Given the description of an element on the screen output the (x, y) to click on. 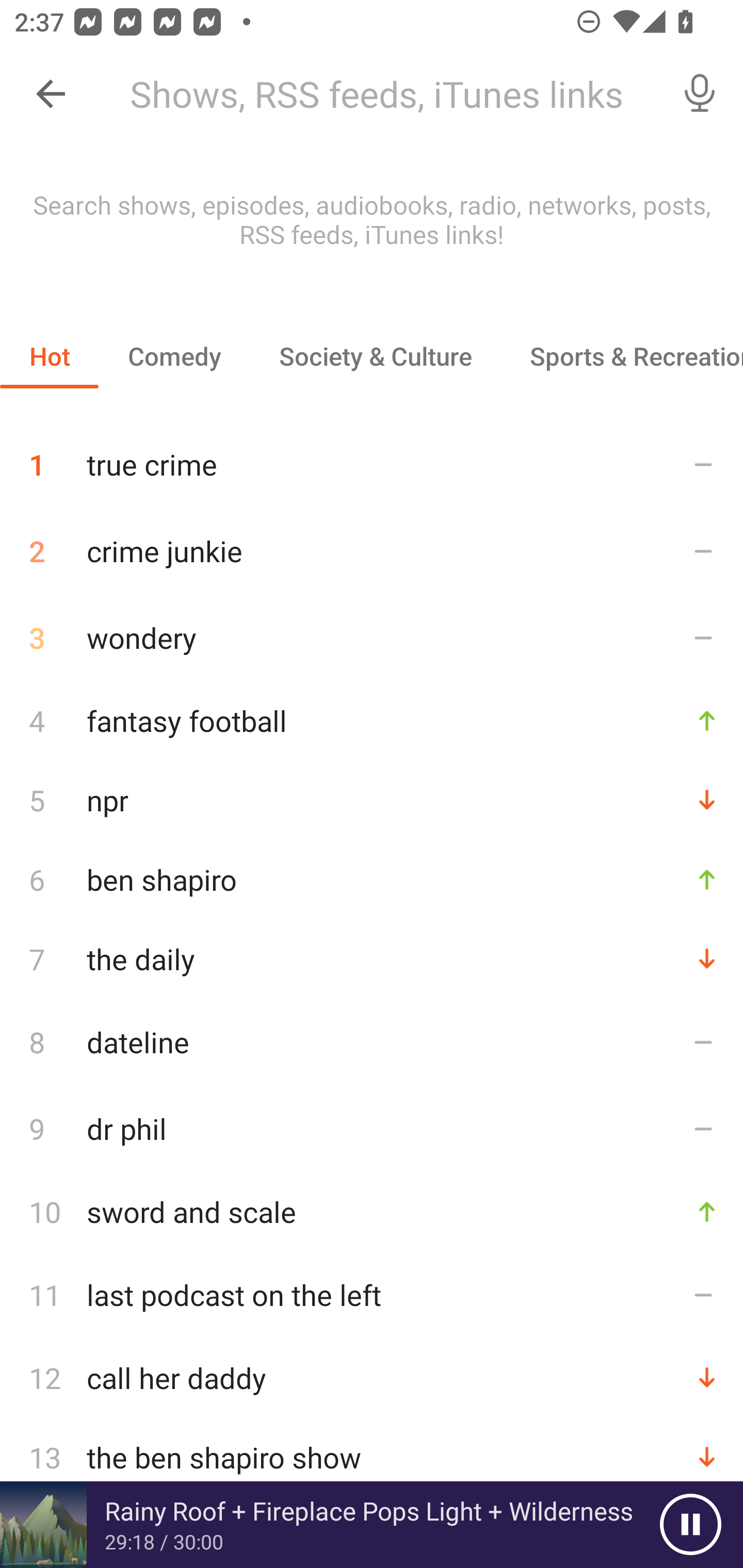
Collapse (50, 93)
Voice Search (699, 93)
Shows, RSS feeds, iTunes links (385, 94)
Hot (49, 355)
Comedy (173, 355)
Society & Culture (374, 355)
Sports & Recreation (621, 355)
1 true crime (371, 457)
2 crime junkie (371, 551)
3 wondery (371, 637)
4 fantasy football (371, 720)
5 npr (371, 800)
6 ben shapiro (371, 879)
7 the daily (371, 958)
8 dateline (371, 1041)
9 dr phil (371, 1128)
10 sword and scale (371, 1211)
11 last podcast on the left (371, 1294)
12 call her daddy (371, 1377)
13 the ben shapiro show (371, 1457)
Pause (690, 1524)
